Given the description of an element on the screen output the (x, y) to click on. 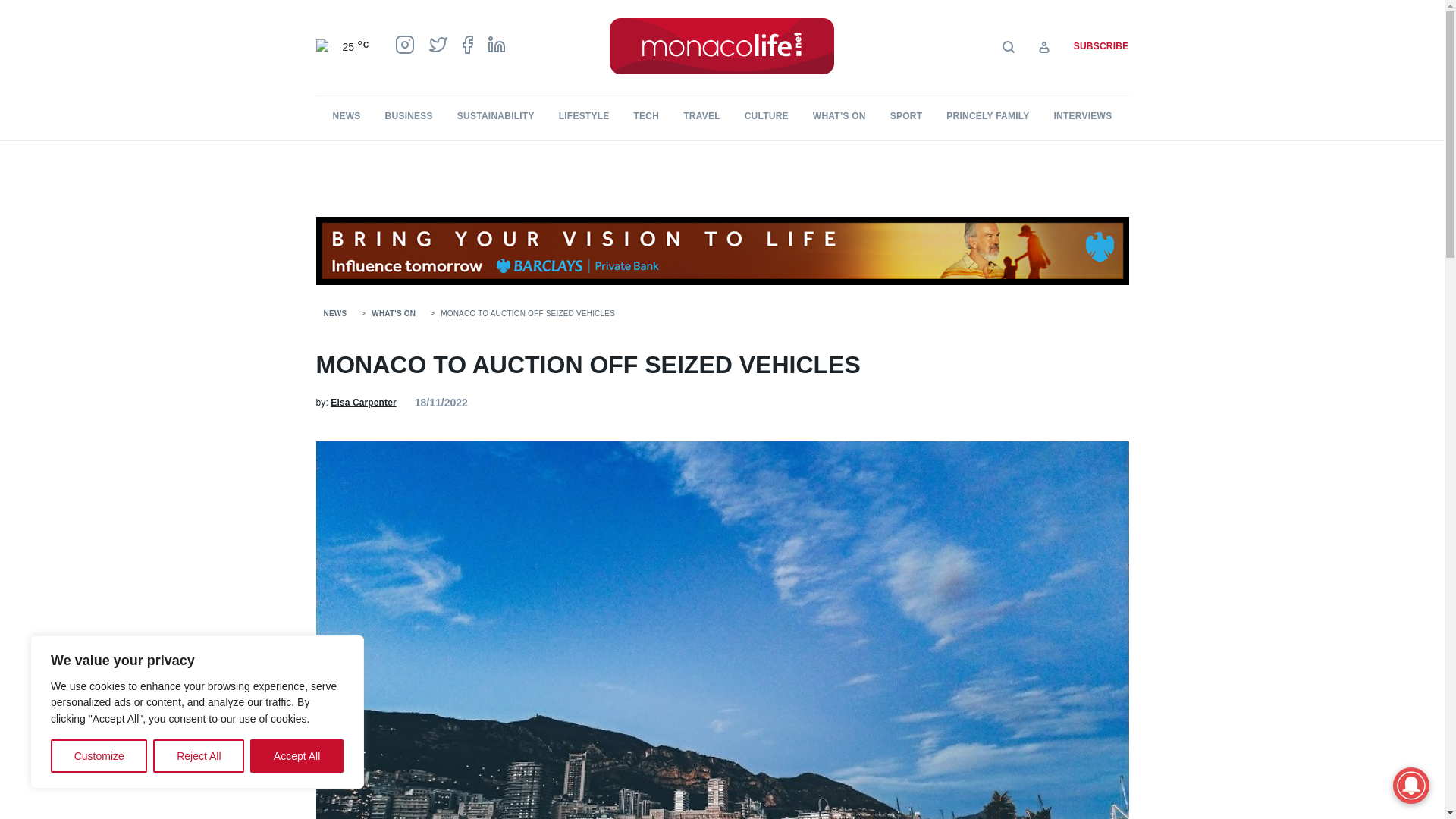
TECH (646, 115)
TRAVEL (701, 115)
search (895, 90)
SUSTAINABILITY (495, 115)
INTERVIEWS (1083, 115)
BUSINESS (408, 115)
PRINCELY FAMILY (987, 115)
WHAT'S ON (392, 313)
Reject All (198, 756)
NEWS (347, 115)
LIFESTYLE (584, 115)
Accept All (296, 756)
SPORT (906, 115)
Customize (98, 756)
CULTURE (766, 115)
